Given the description of an element on the screen output the (x, y) to click on. 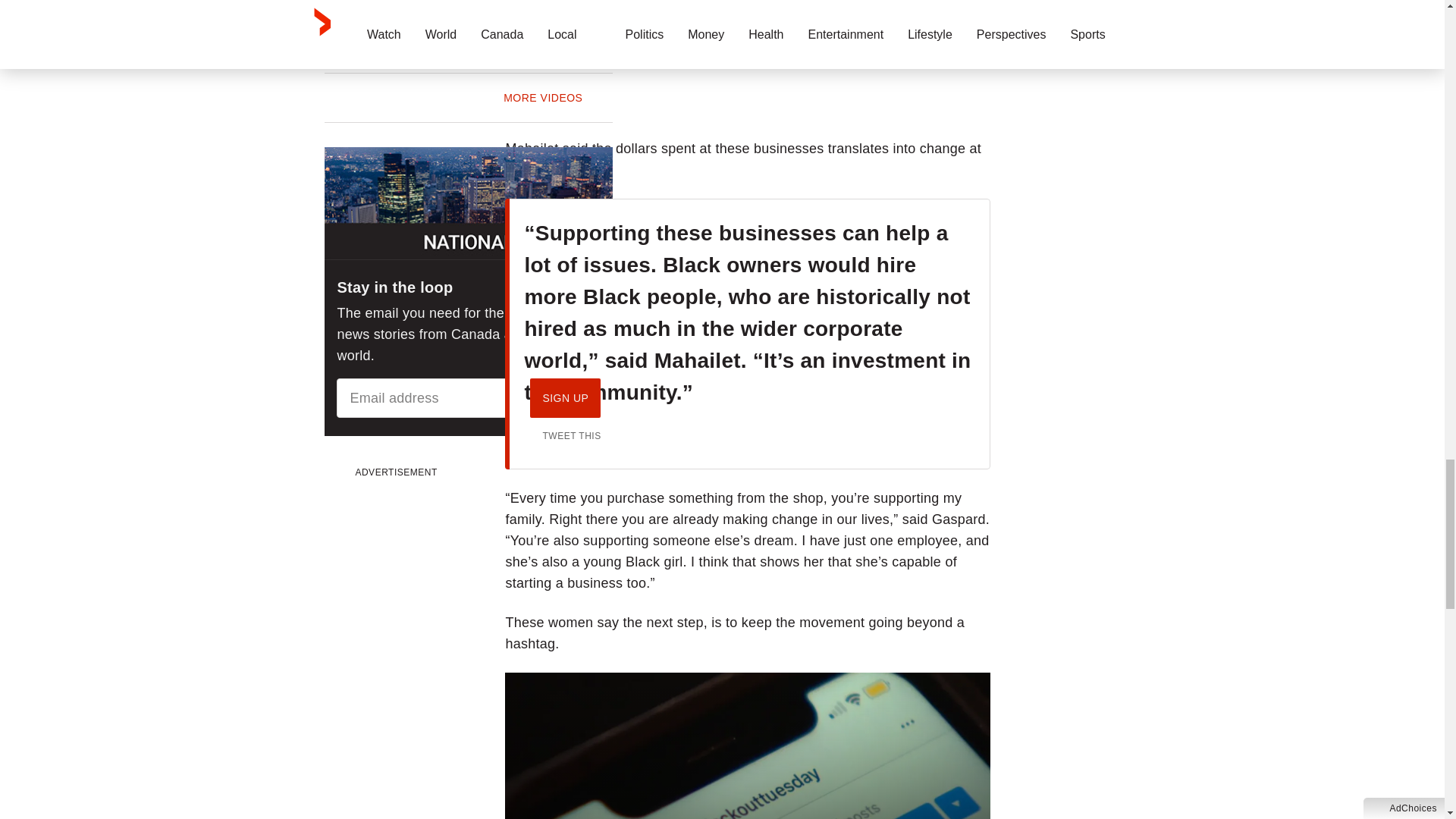
Canadians question new U.S. dog border rules (531, 10)
